Given the description of an element on the screen output the (x, y) to click on. 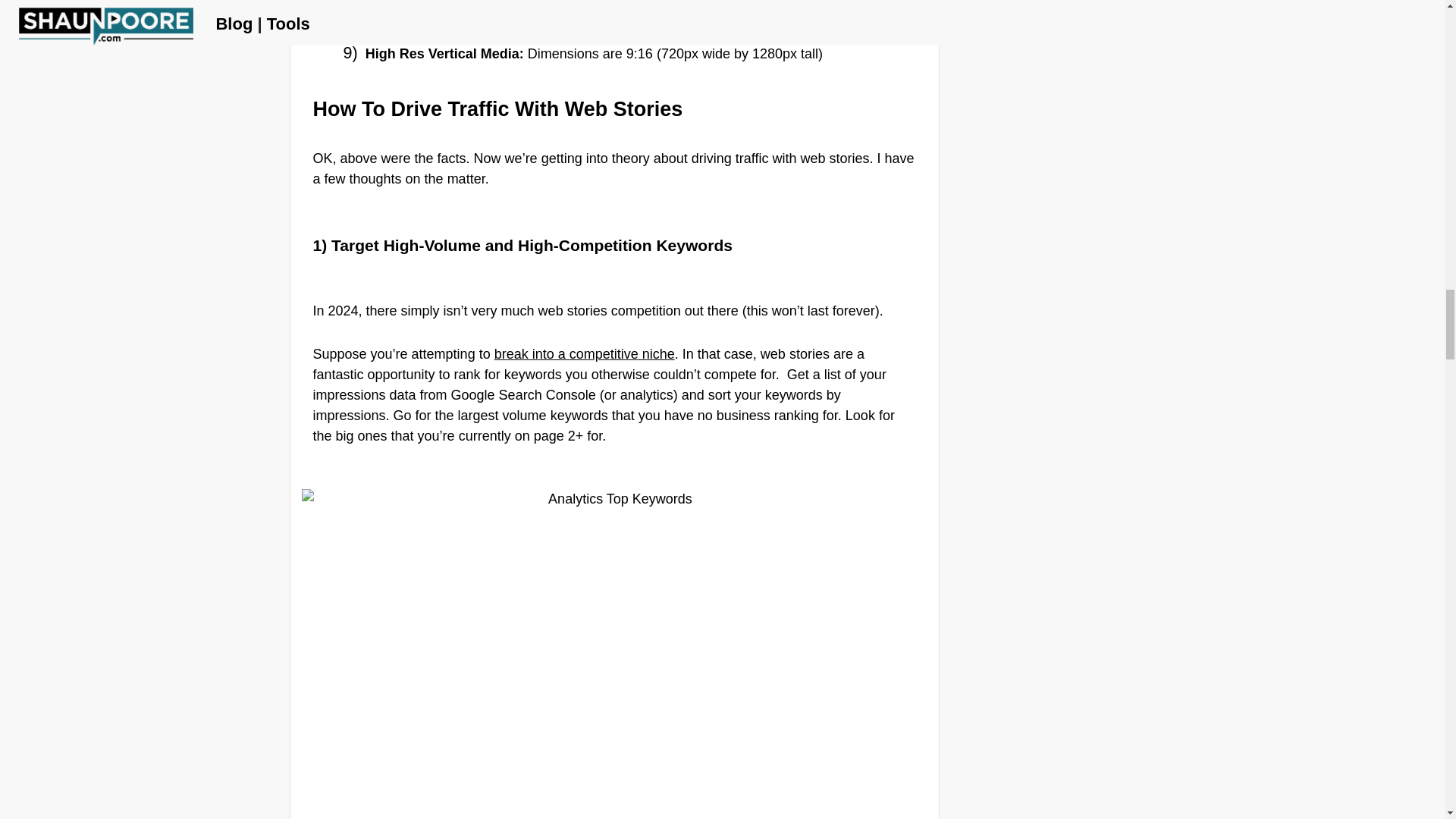
break into a competitive niche (585, 353)
get away with it on YouTube (754, 3)
